Given the description of an element on the screen output the (x, y) to click on. 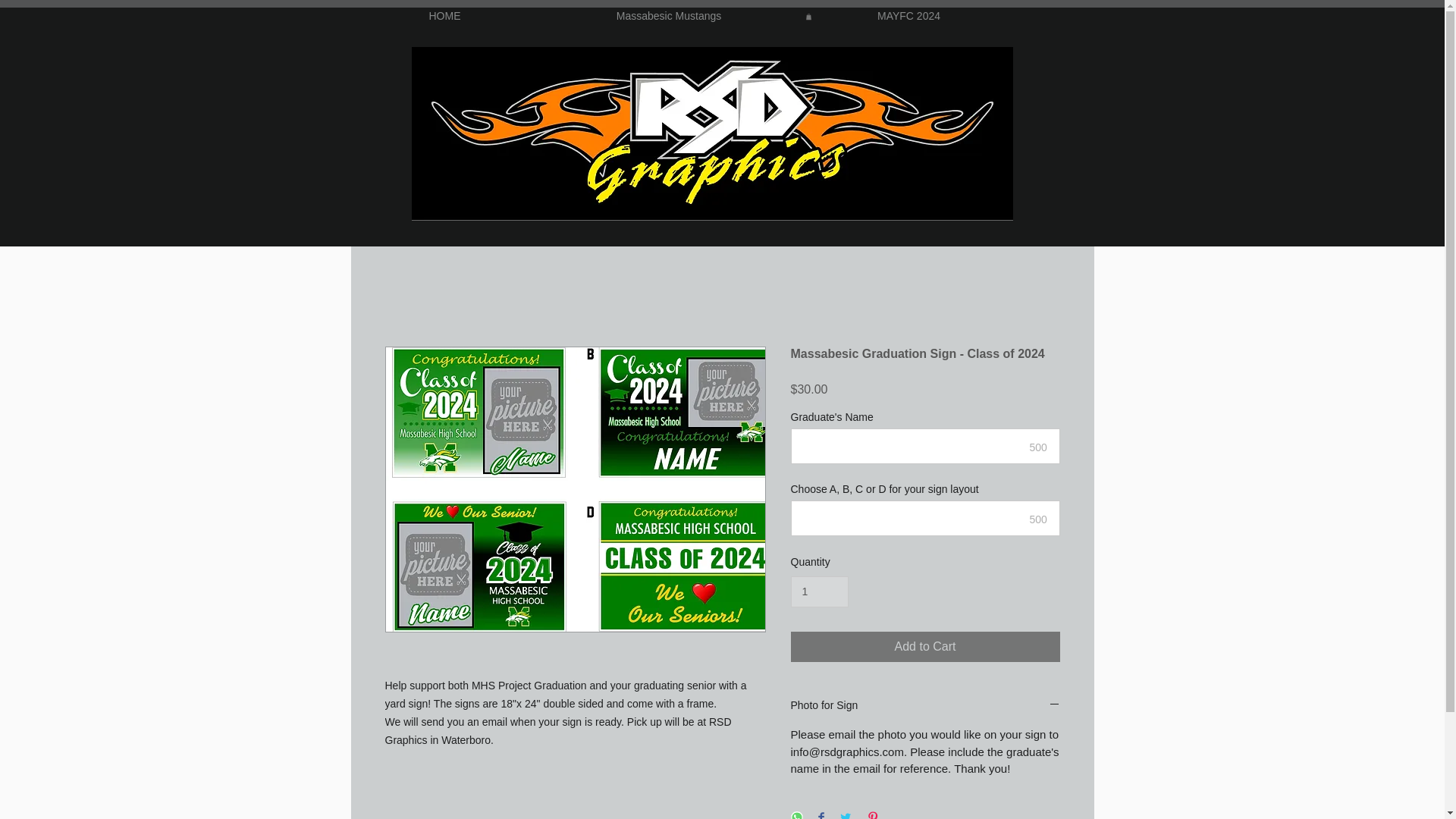
Add to Cart (924, 646)
HOME (445, 16)
Photo for Sign (924, 706)
1 (818, 591)
Massabesic Mustangs (668, 16)
MAYFC 2024 (908, 16)
